Given the description of an element on the screen output the (x, y) to click on. 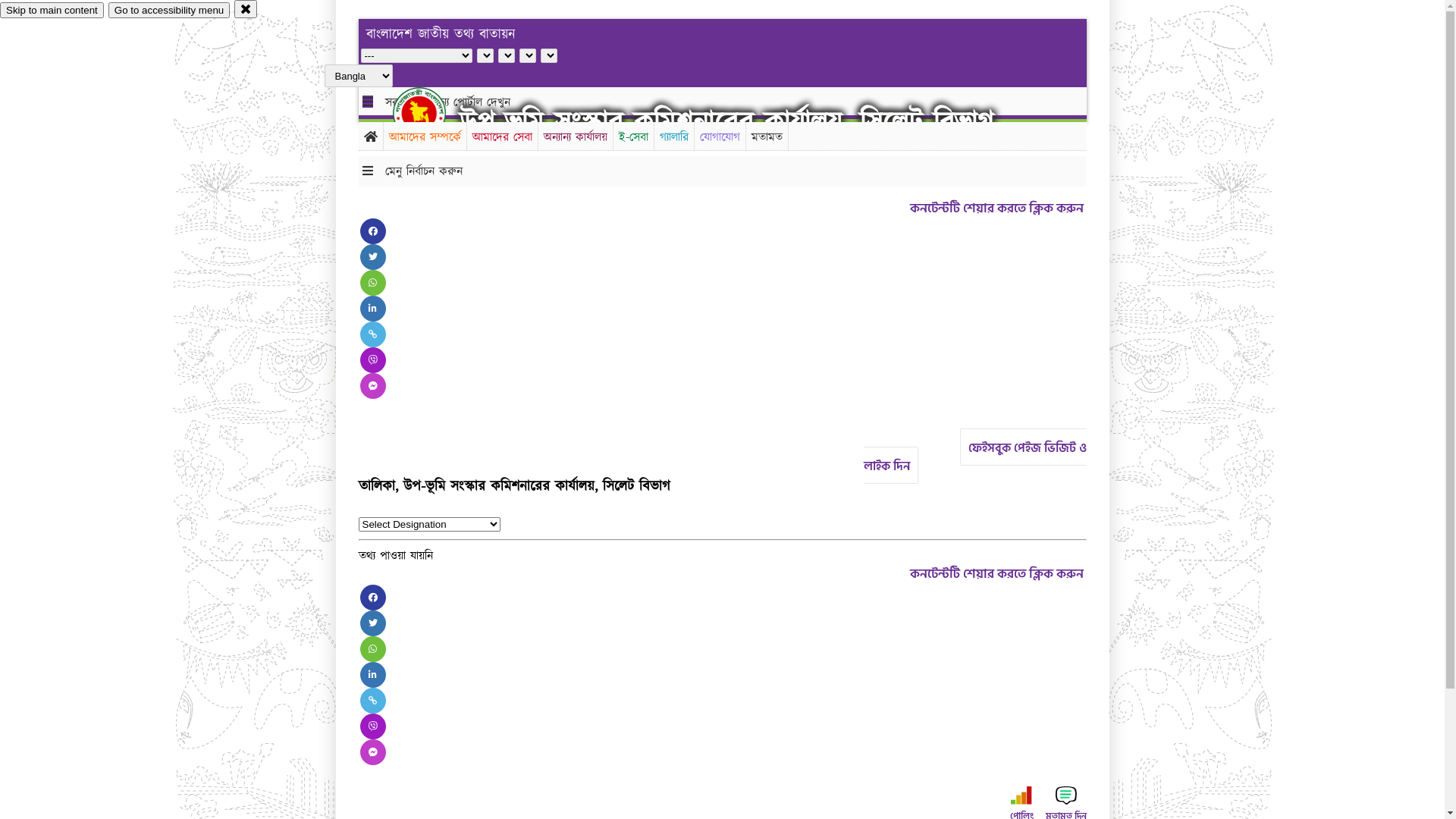
close Element type: hover (245, 9)
Go to accessibility menu Element type: text (168, 10)
Skip to main content Element type: text (51, 10)

                
             Element type: hover (431, 112)
